Given the description of an element on the screen output the (x, y) to click on. 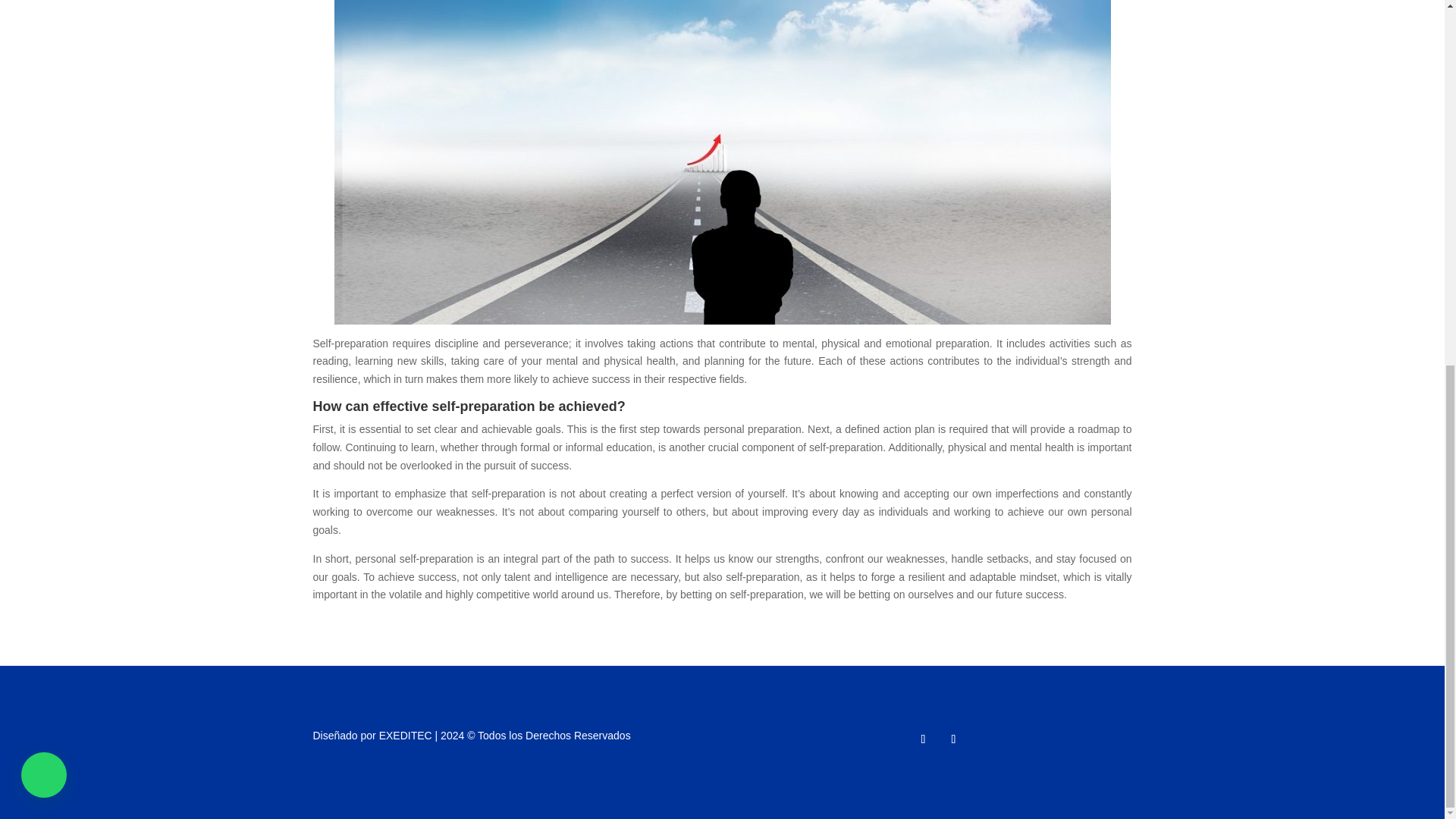
Follow on Facebook (922, 739)
Follow on RSS (952, 739)
